Given the description of an element on the screen output the (x, y) to click on. 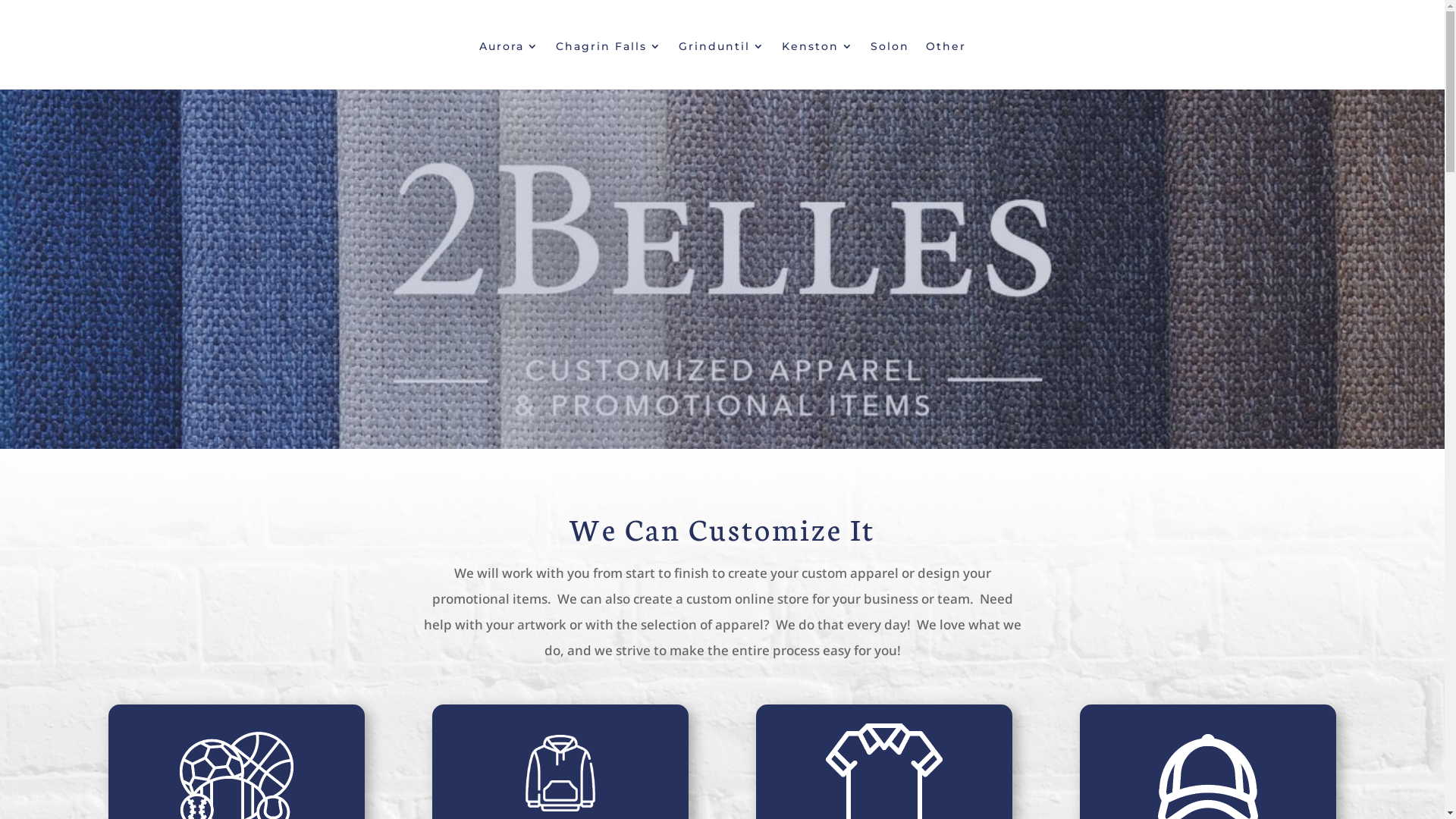
Other Element type: text (945, 48)
Kenston Element type: text (817, 48)
Chagrin Falls Element type: text (608, 48)
Grinduntil Element type: text (720, 48)
Aurora Element type: text (509, 48)
Solon Element type: text (889, 48)
